Given the description of an element on the screen output the (x, y) to click on. 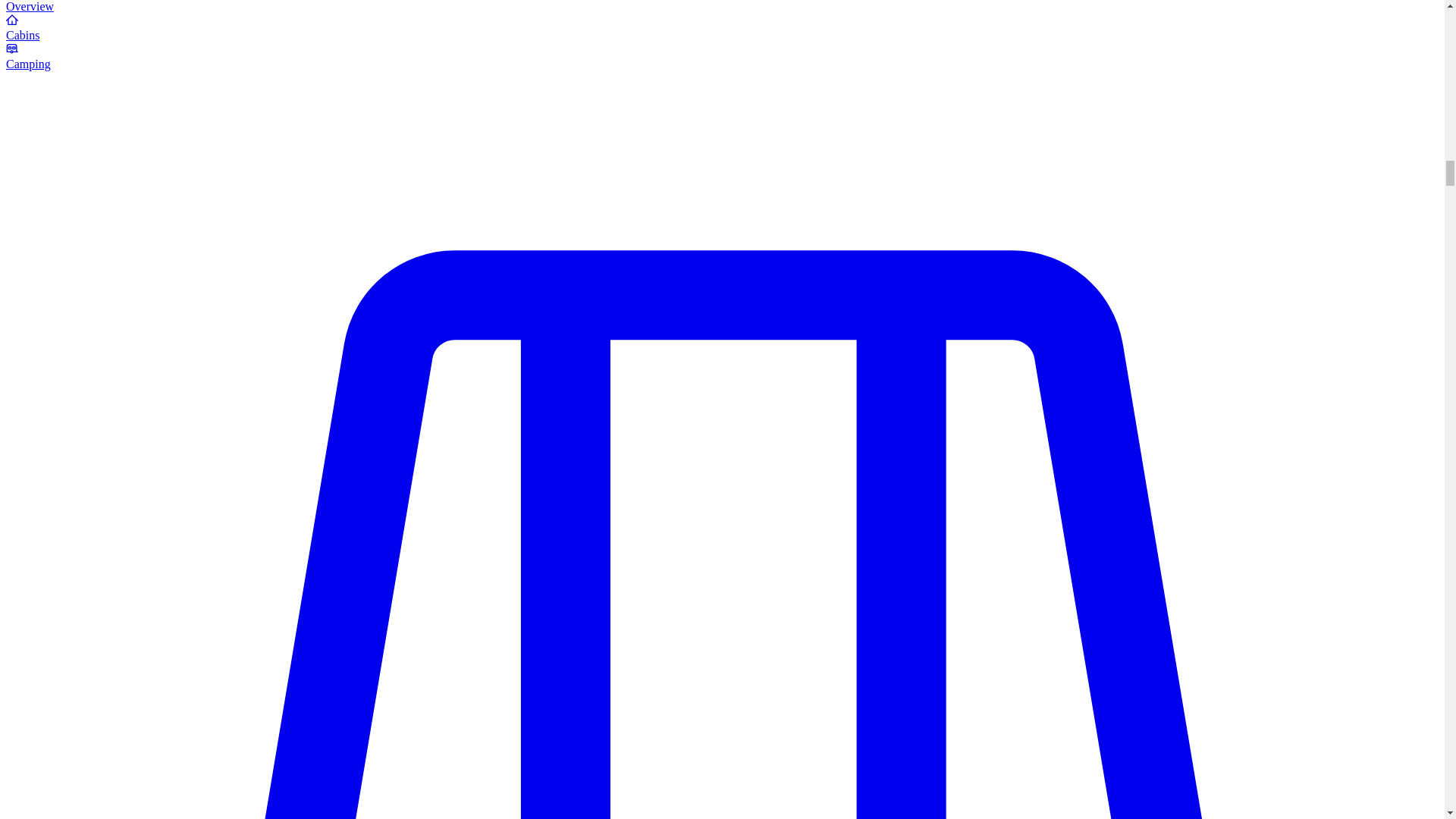
Overview (29, 6)
